Given the description of an element on the screen output the (x, y) to click on. 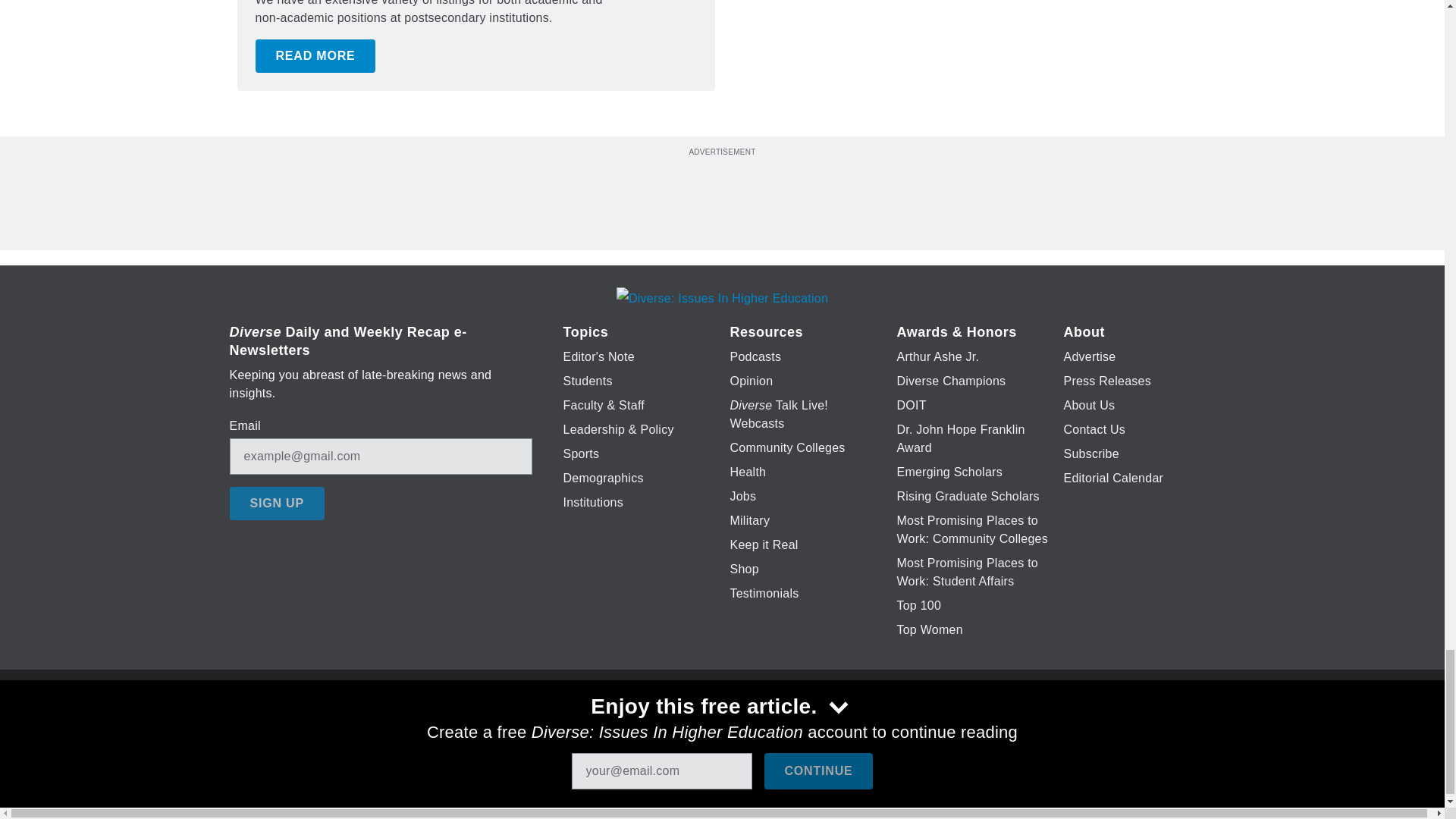
Instagram icon (796, 727)
LinkedIn icon (718, 727)
Twitter X icon (674, 727)
Facebook icon (635, 727)
YouTube icon (757, 727)
